Given the description of an element on the screen output the (x, y) to click on. 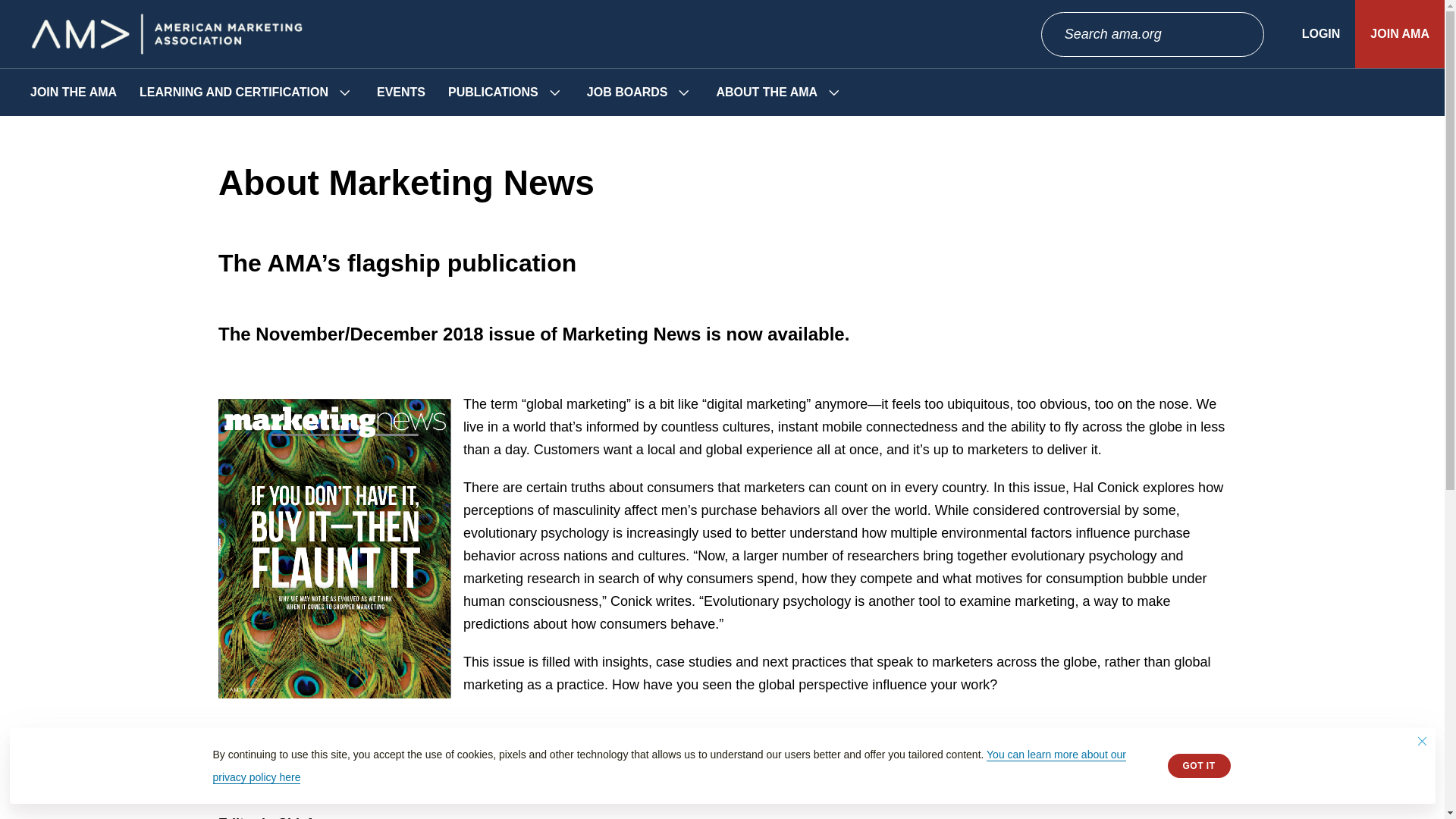
JOB BOARDS (627, 92)
PUBLICATIONS (493, 92)
ABOUT THE AMA (766, 92)
EVENTS (401, 92)
JOIN THE AMA (73, 92)
LEARNING AND CERTIFICATION (234, 92)
LOGIN (1321, 33)
